Given the description of an element on the screen output the (x, y) to click on. 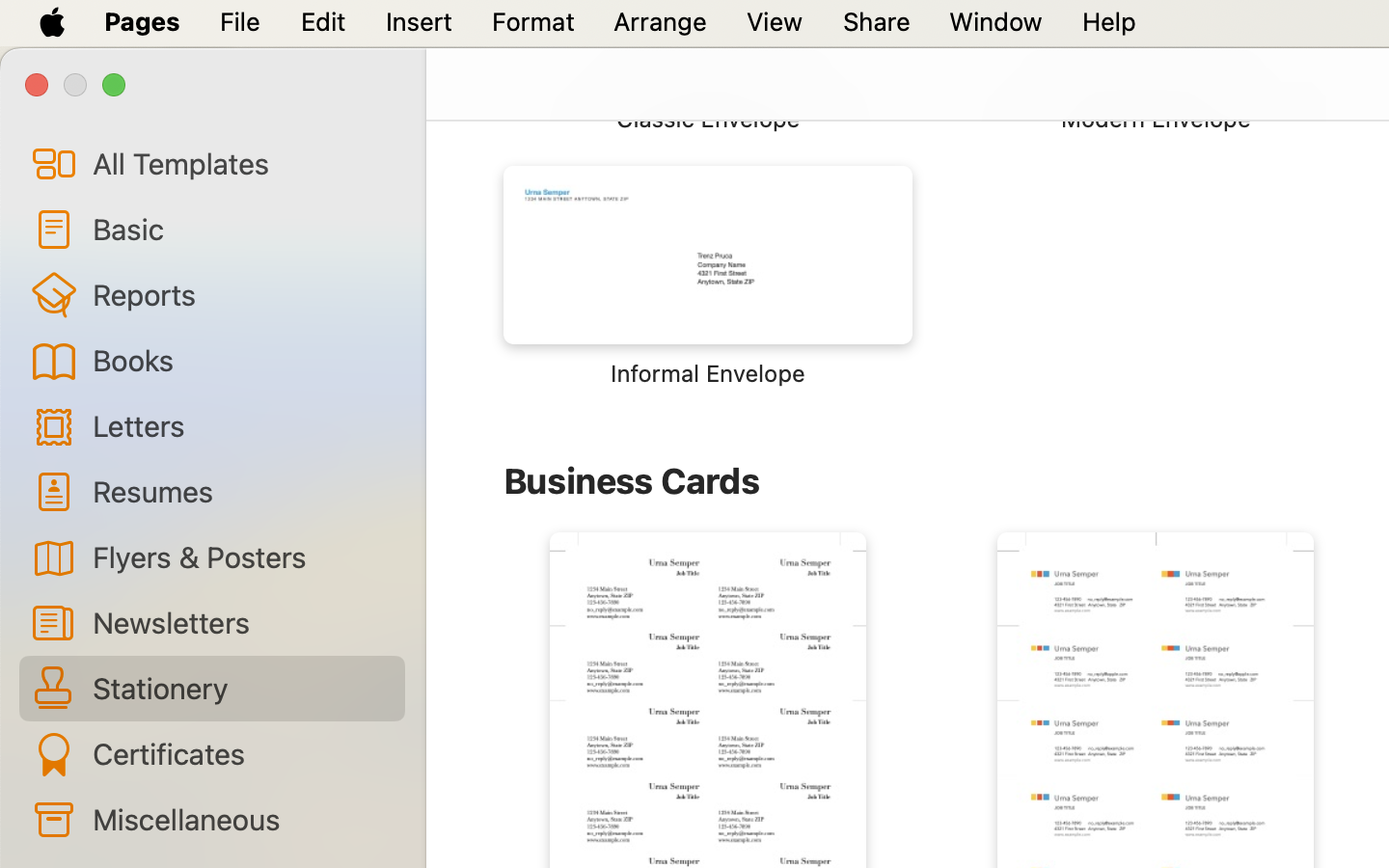
Flyers & Posters Element type: AXStaticText (240, 556)
All Templates Element type: AXStaticText (240, 162)
